Given the description of an element on the screen output the (x, y) to click on. 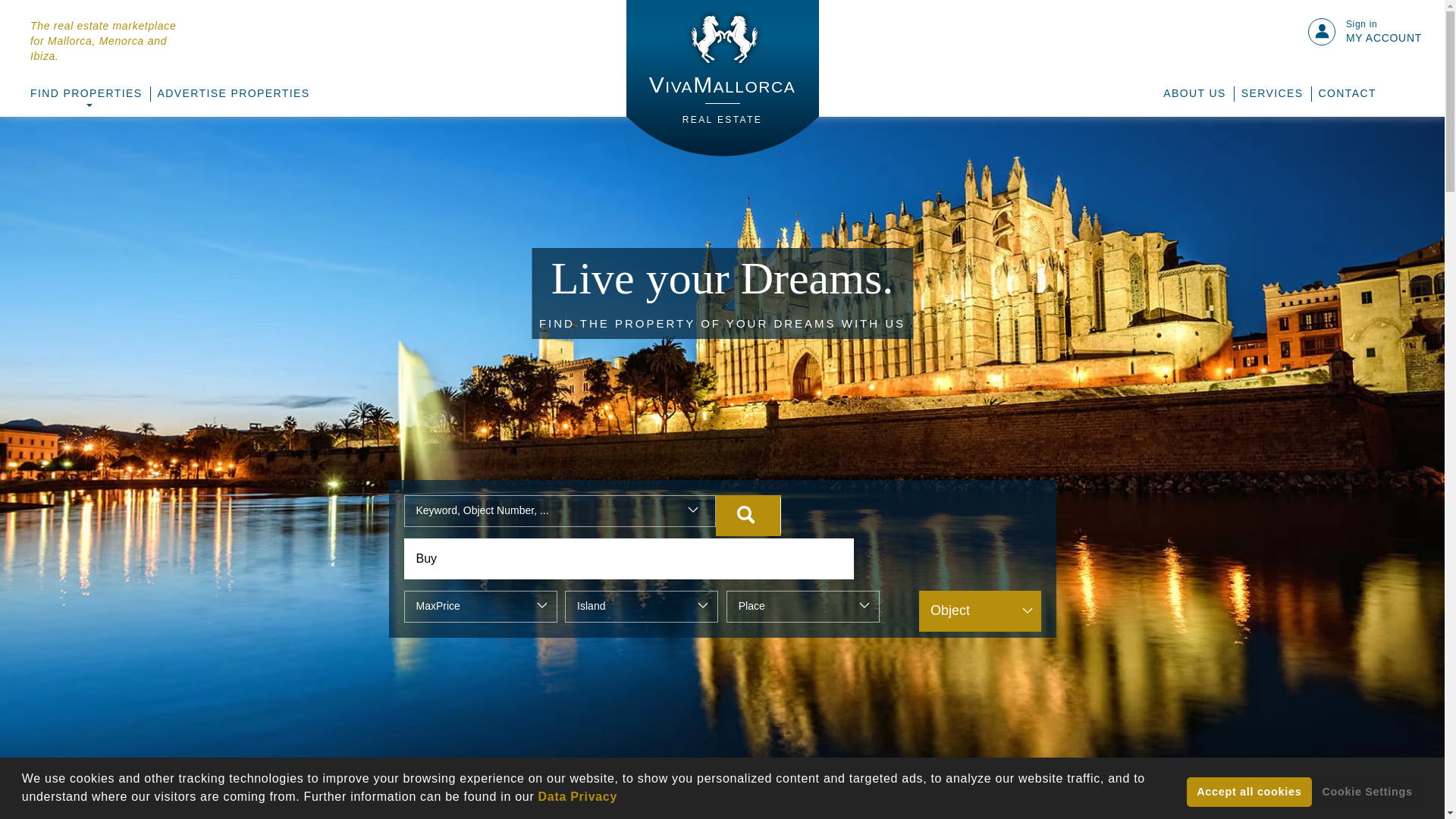
FIND PROPERTIES (86, 93)
Buy (628, 558)
Find Objects (748, 515)
Find Objects (748, 515)
CONTACT (1383, 31)
SERVICES (1347, 93)
ADVERTISE PROPERTIES (1272, 93)
ABOUT US (722, 78)
